Given the description of an element on the screen output the (x, y) to click on. 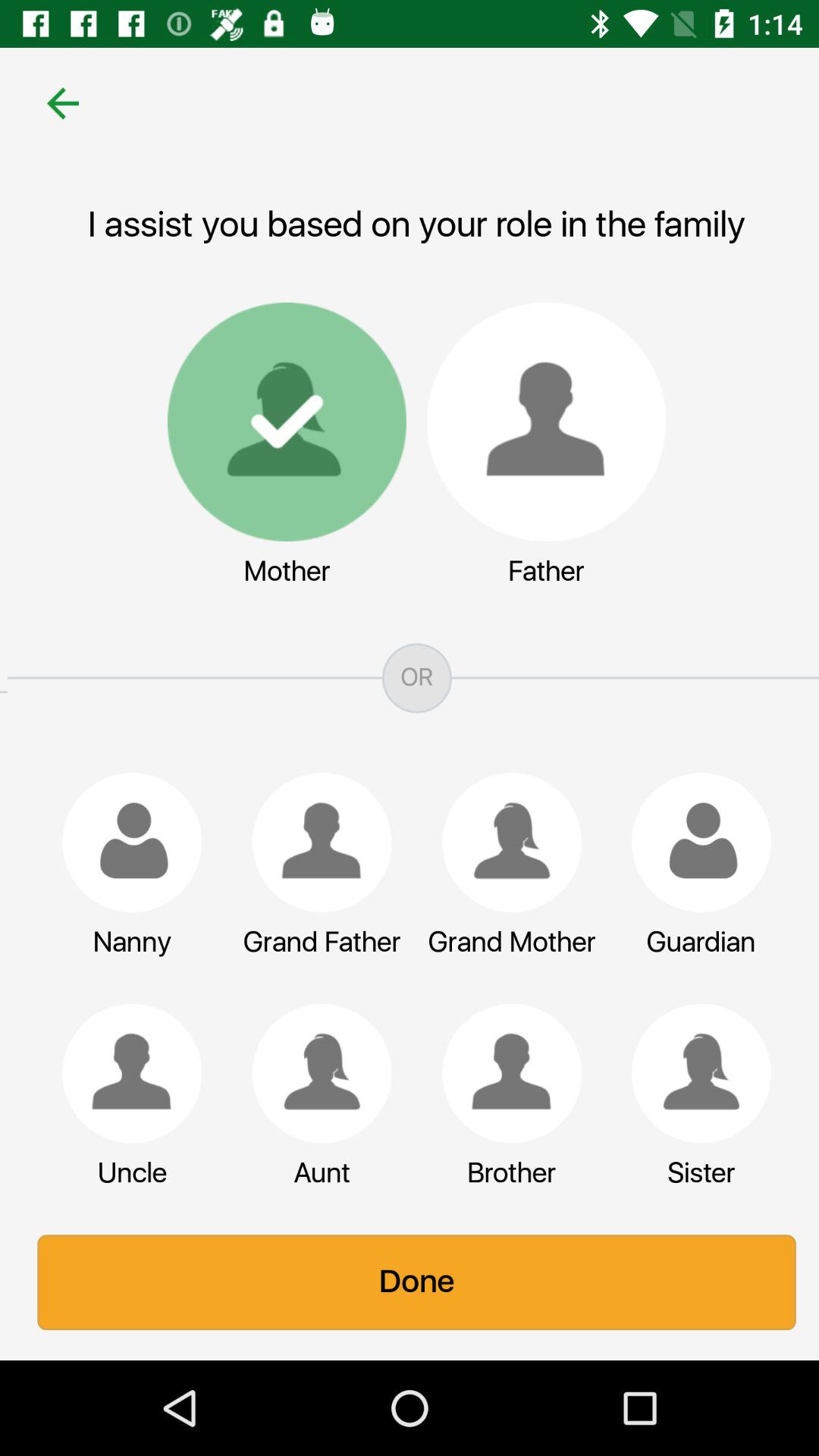
launch icon above the guardian (693, 842)
